Given the description of an element on the screen output the (x, y) to click on. 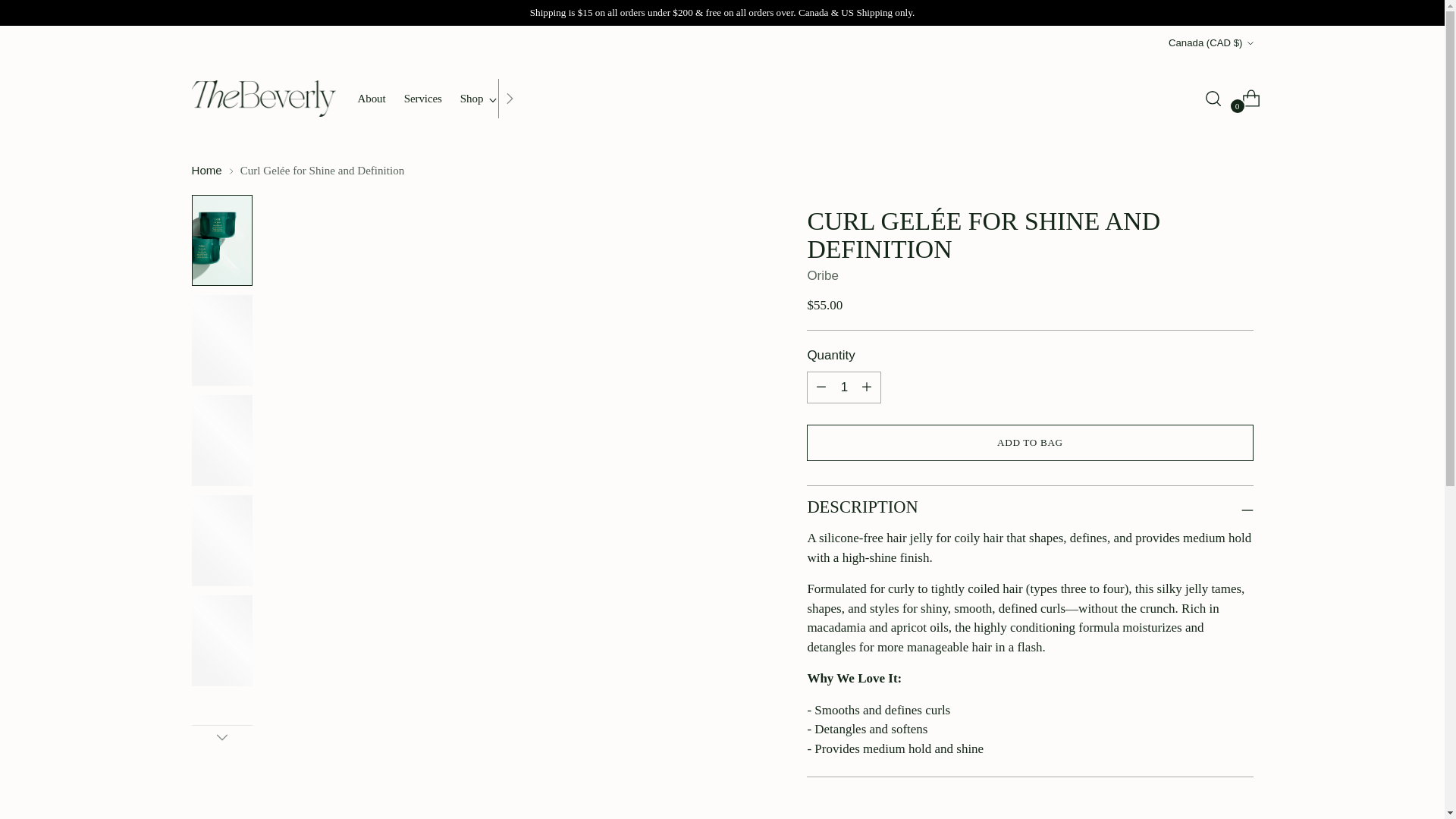
Oribe (822, 275)
Shop (478, 98)
Services (423, 98)
Down (220, 736)
1 (843, 387)
